Given the description of an element on the screen output the (x, y) to click on. 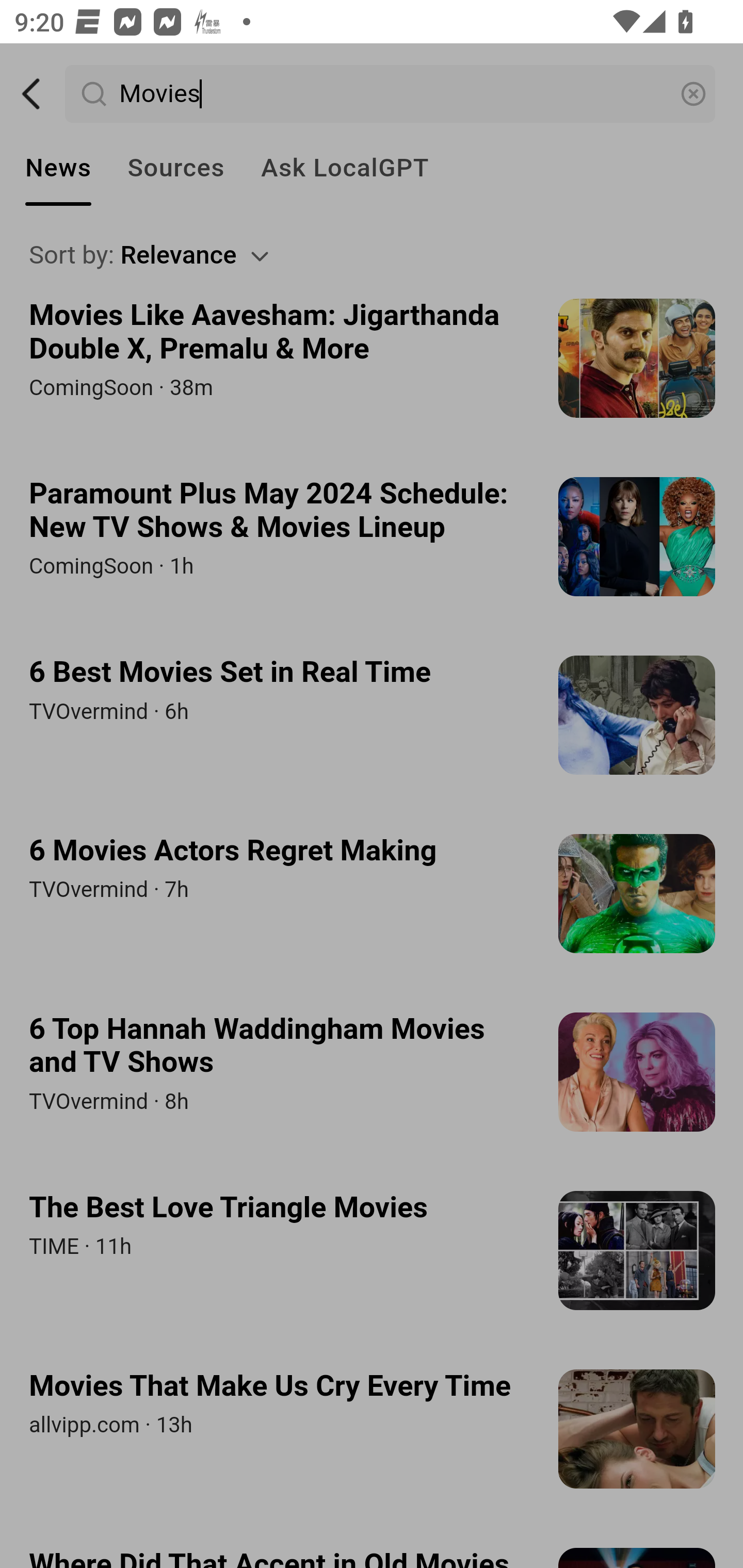
Movies (390, 93)
News (58, 168)
Sources (175, 168)
Ask LocalGPT (344, 168)
Sort by:  Relevance (372, 254)
